Given the description of an element on the screen output the (x, y) to click on. 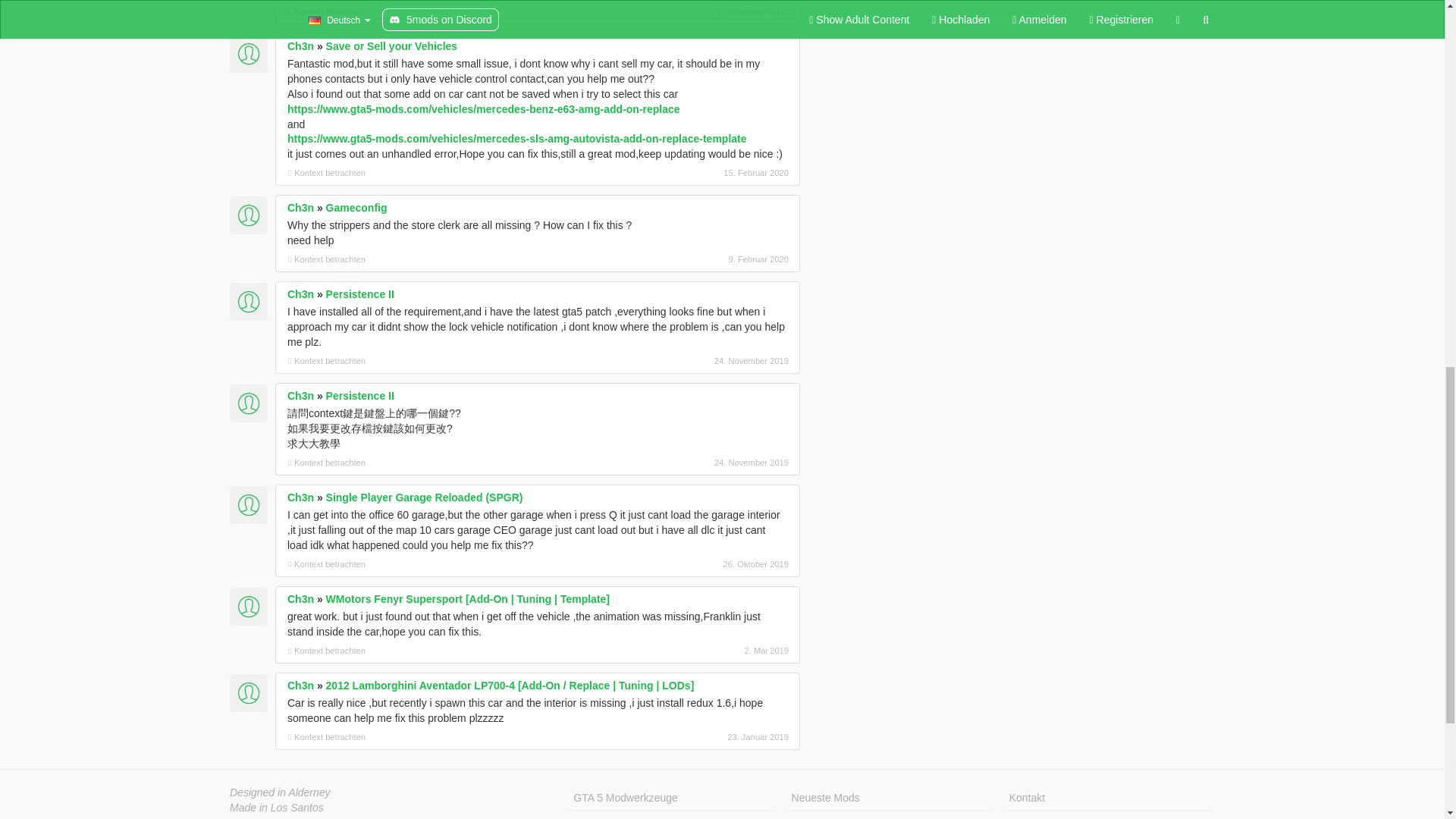
Samstag, 26. Oktober 2019, 09:00 Uhr (708, 563)
Mittwoch, 23. Januar 2019, 16:01 Uhr (708, 736)
Sonntag, 24. November 2019, 10:22 Uhr (708, 462)
Sonntag, 19. September 2021, 03:43 Uhr (708, 11)
Donnerstag, 02. Mai 2019, 16:00 Uhr (708, 650)
Samstag, 15. Februar 2020, 08:19 Uhr (708, 172)
Sonntag, 09. Februar 2020, 08:28 Uhr (708, 259)
Sonntag, 24. November 2019, 12:33 Uhr (708, 360)
